Given the description of an element on the screen output the (x, y) to click on. 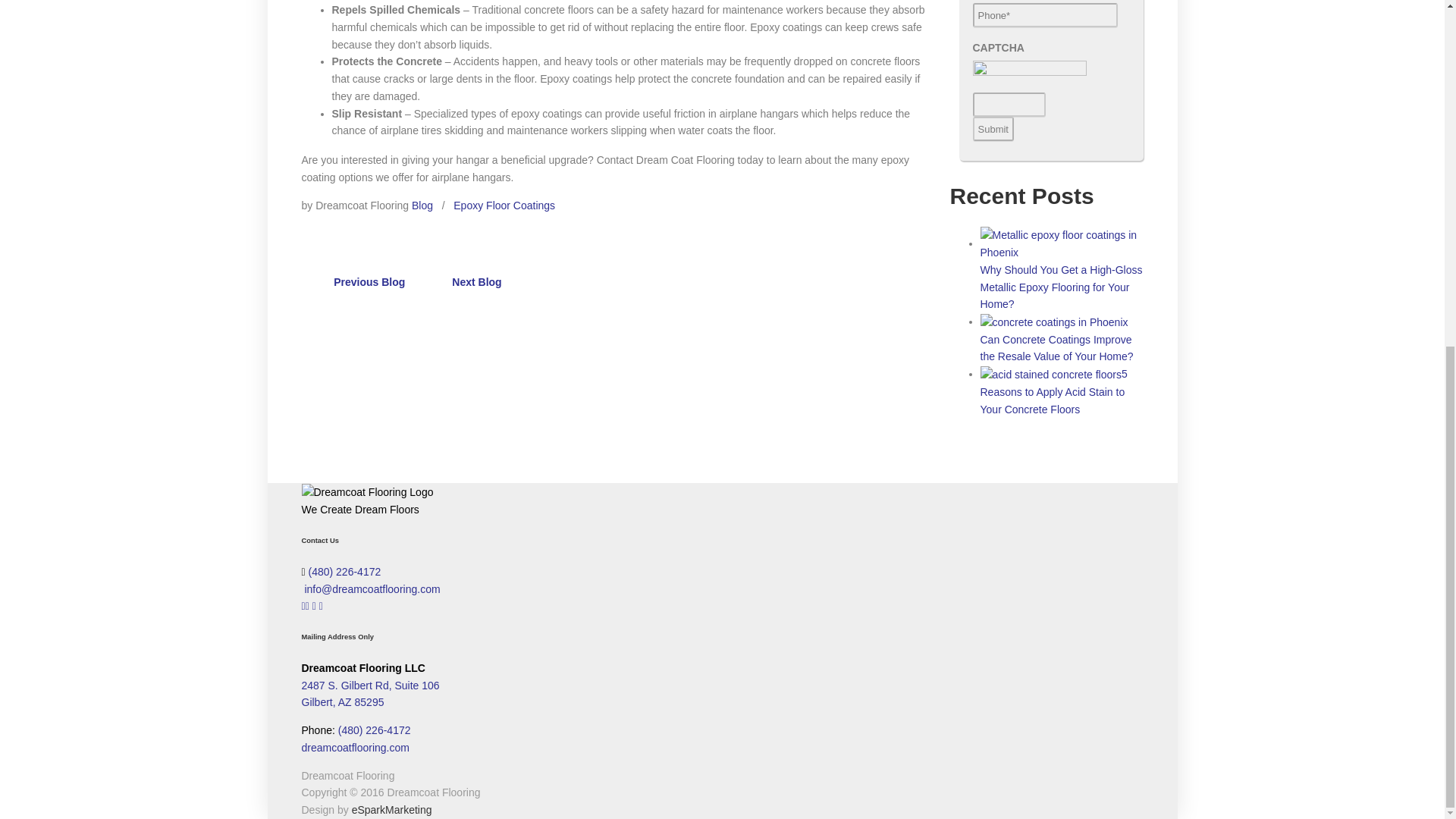
Submit (992, 128)
Next Blog   (481, 282)
Blog (422, 205)
concrete coatings in Phoenix (1052, 322)
Dreamcoat Flooring (367, 492)
  Previous Blog (365, 282)
Metallic epoxy floor coatings in Phoenix (1060, 243)
Epoxy Floor Coatings (503, 205)
acid stained concrete floors (1050, 375)
